Given the description of an element on the screen output the (x, y) to click on. 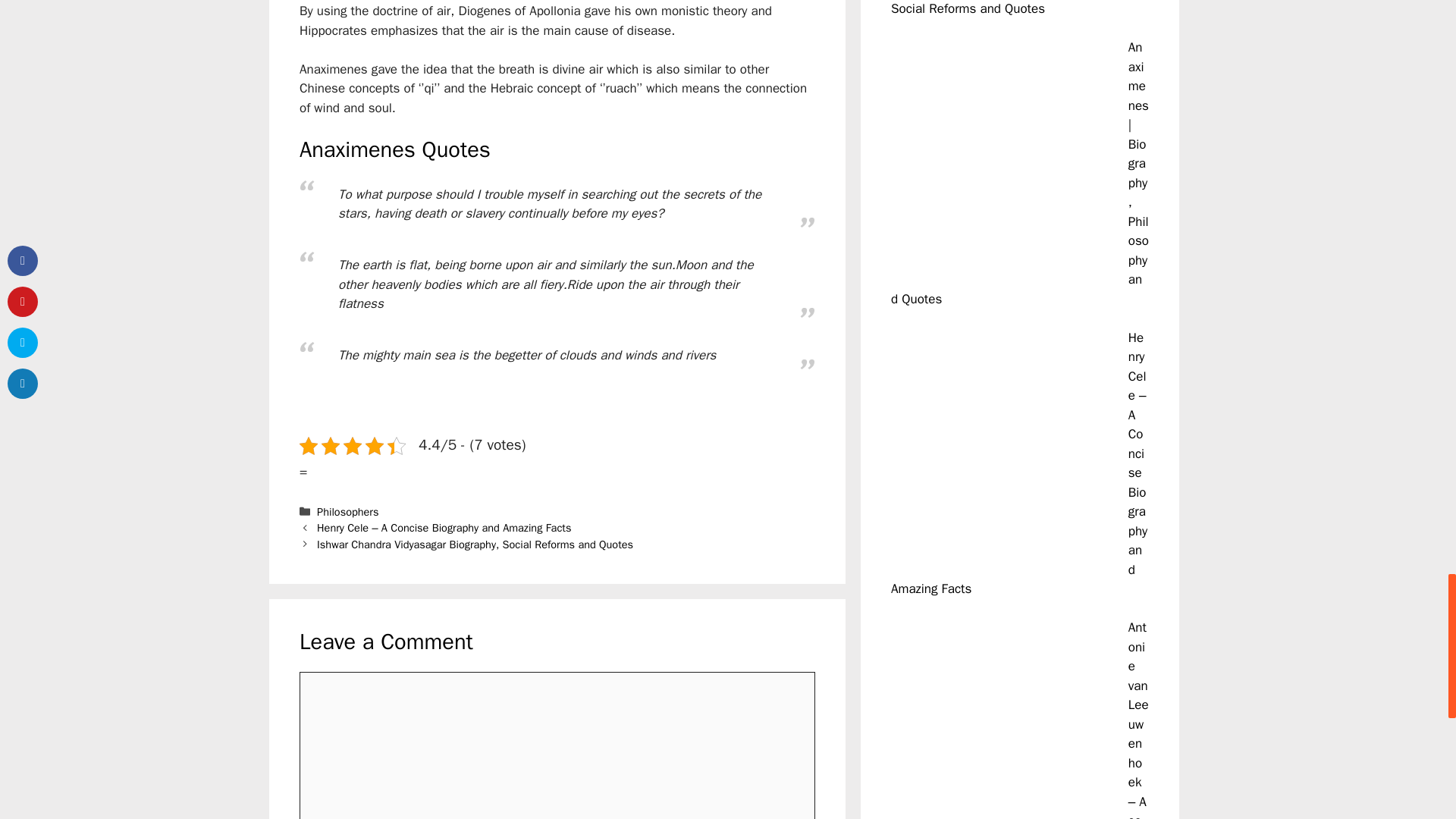
Philosophers (347, 511)
